Given the description of an element on the screen output the (x, y) to click on. 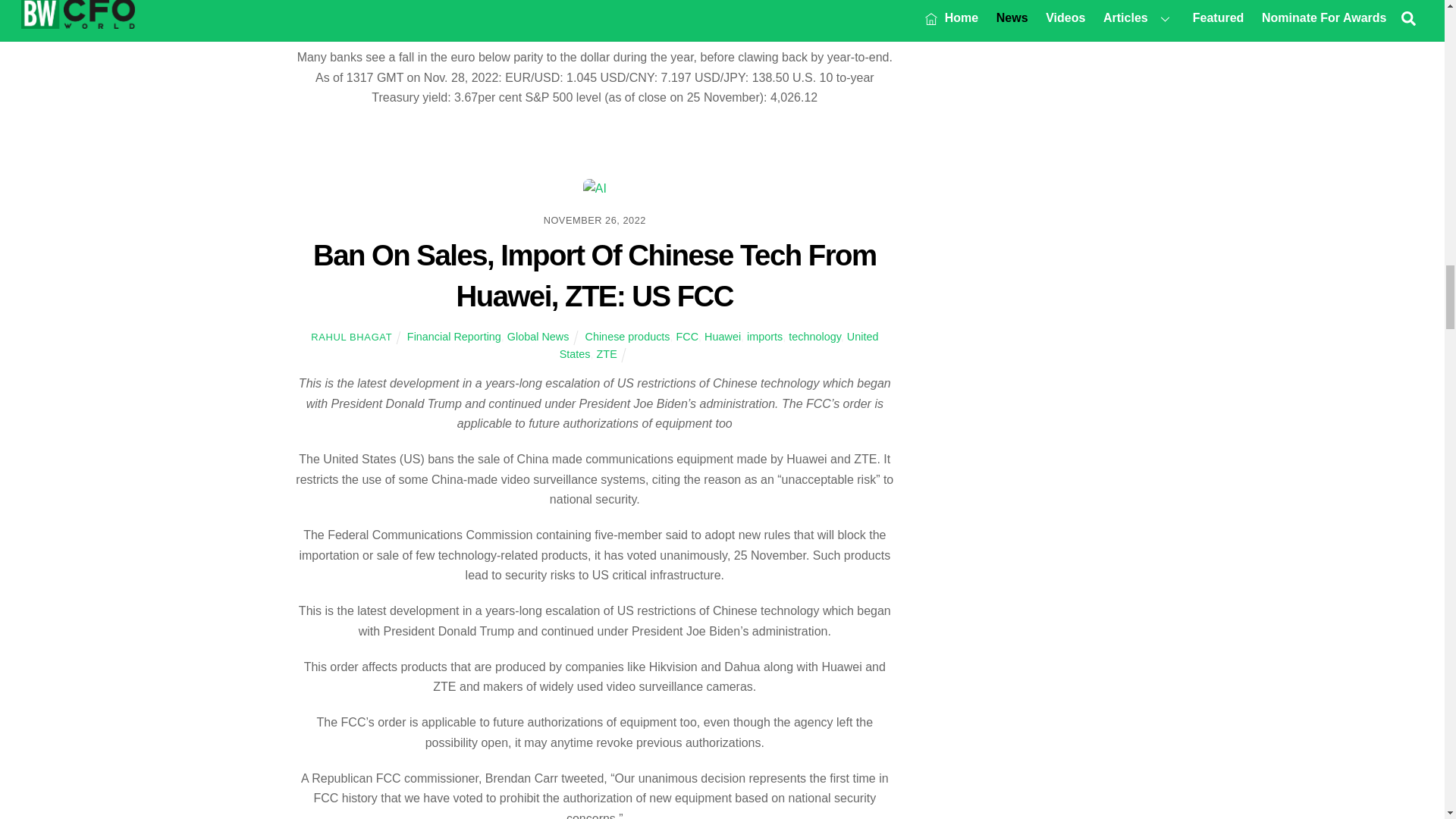
AI (595, 189)
